Given the description of an element on the screen output the (x, y) to click on. 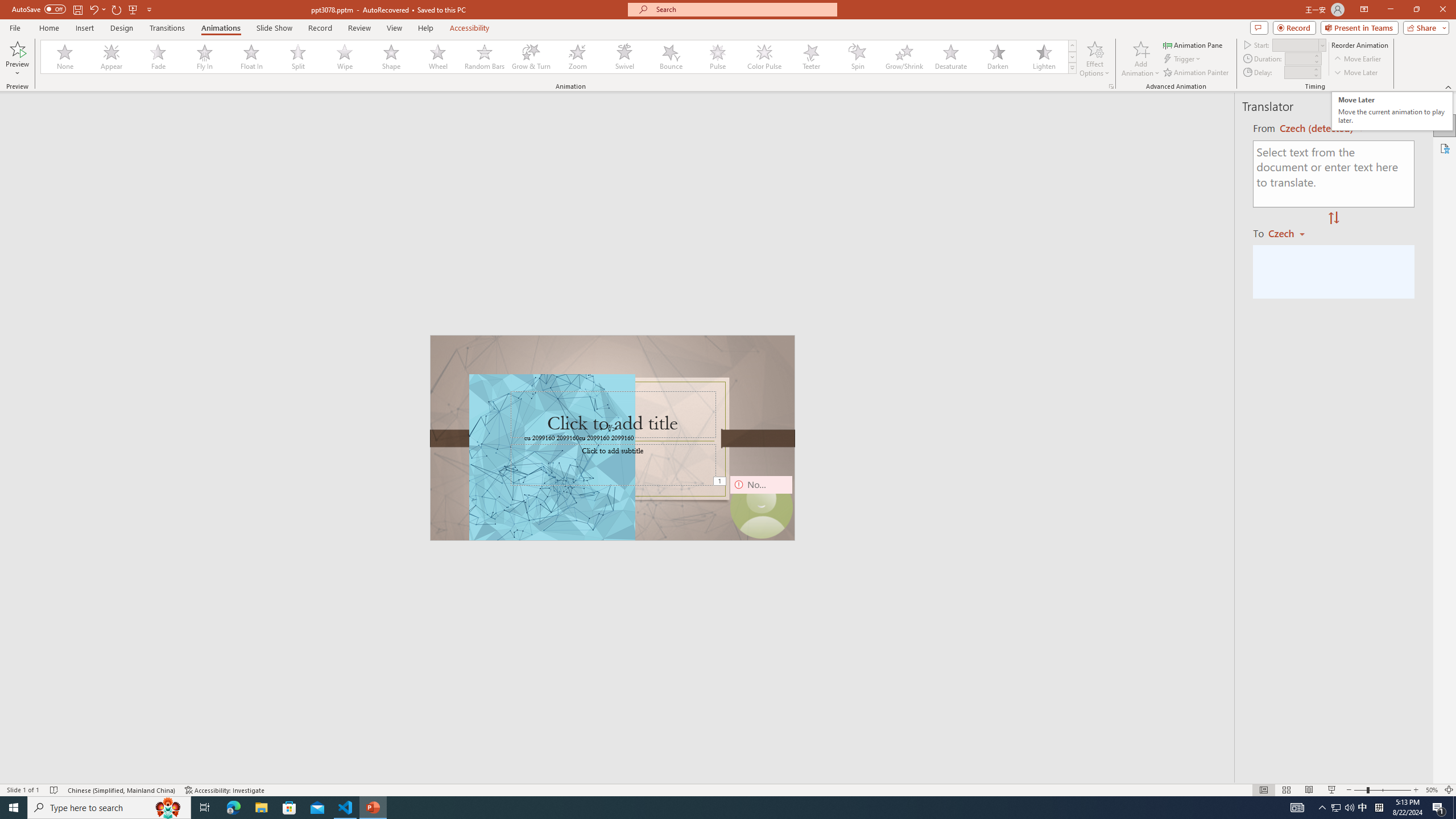
Swivel (624, 56)
Effect Options (1094, 58)
Camera 9, No camera detected. (761, 506)
Color Pulse (764, 56)
Grow & Turn (531, 56)
